Given the description of an element on the screen output the (x, y) to click on. 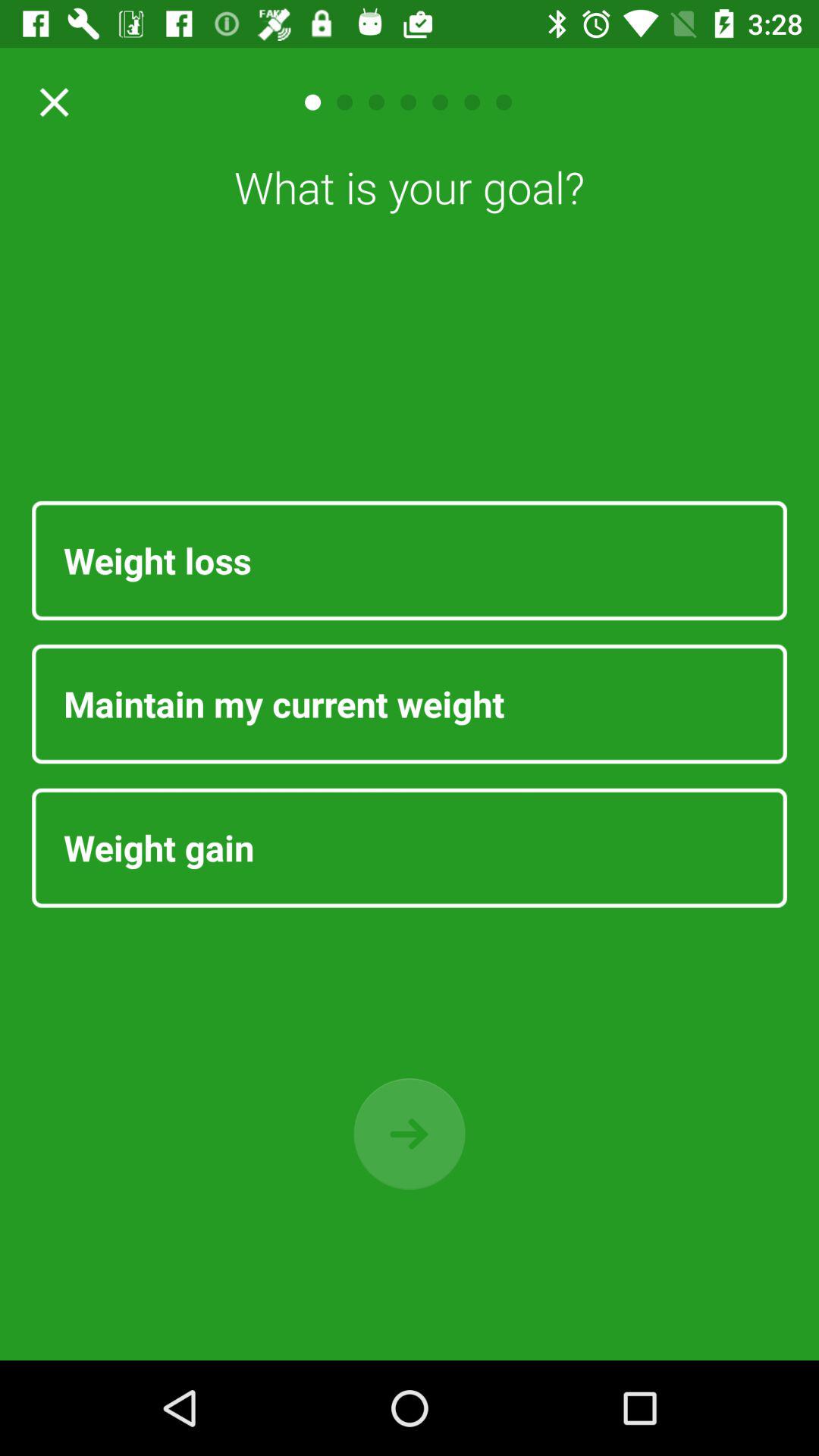
close (48, 102)
